Given the description of an element on the screen output the (x, y) to click on. 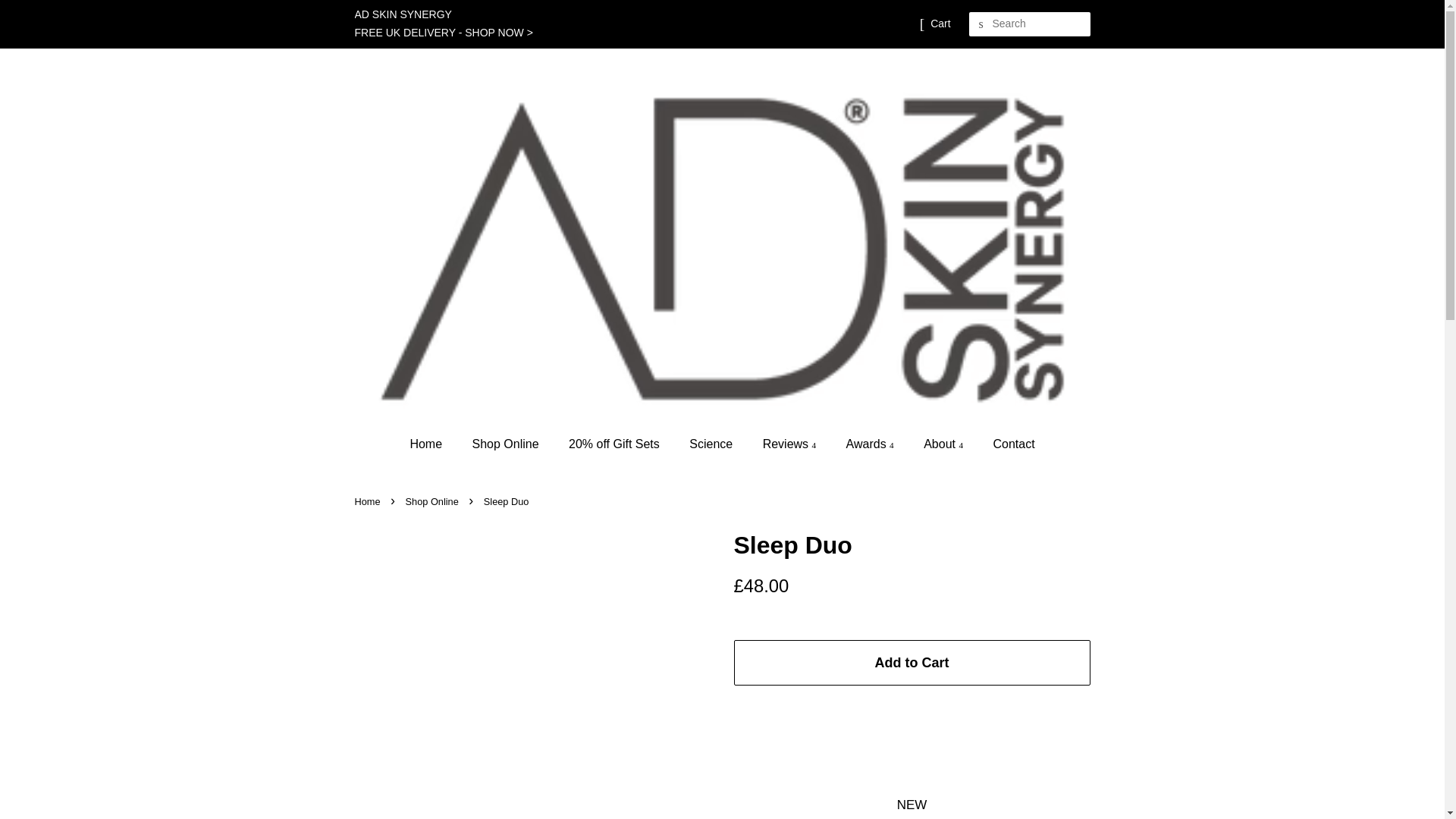
Reviews (791, 443)
Home (433, 443)
Science (713, 443)
Shop Online (507, 443)
Back to the frontpage (369, 501)
Search (980, 24)
Cart (940, 24)
